Given the description of an element on the screen output the (x, y) to click on. 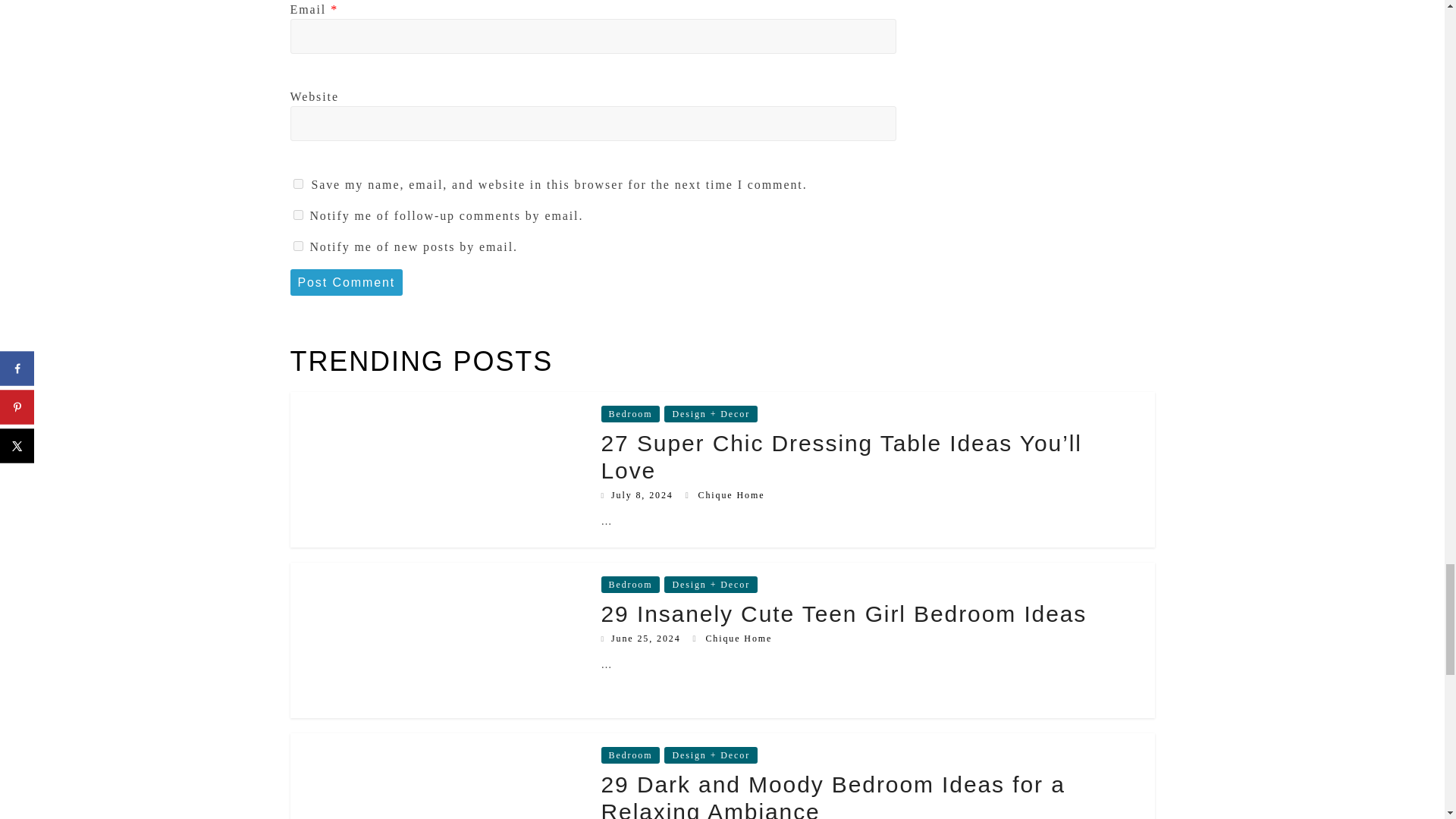
Post Comment (346, 282)
subscribe (297, 214)
subscribe (297, 245)
yes (297, 184)
